Given the description of an element on the screen output the (x, y) to click on. 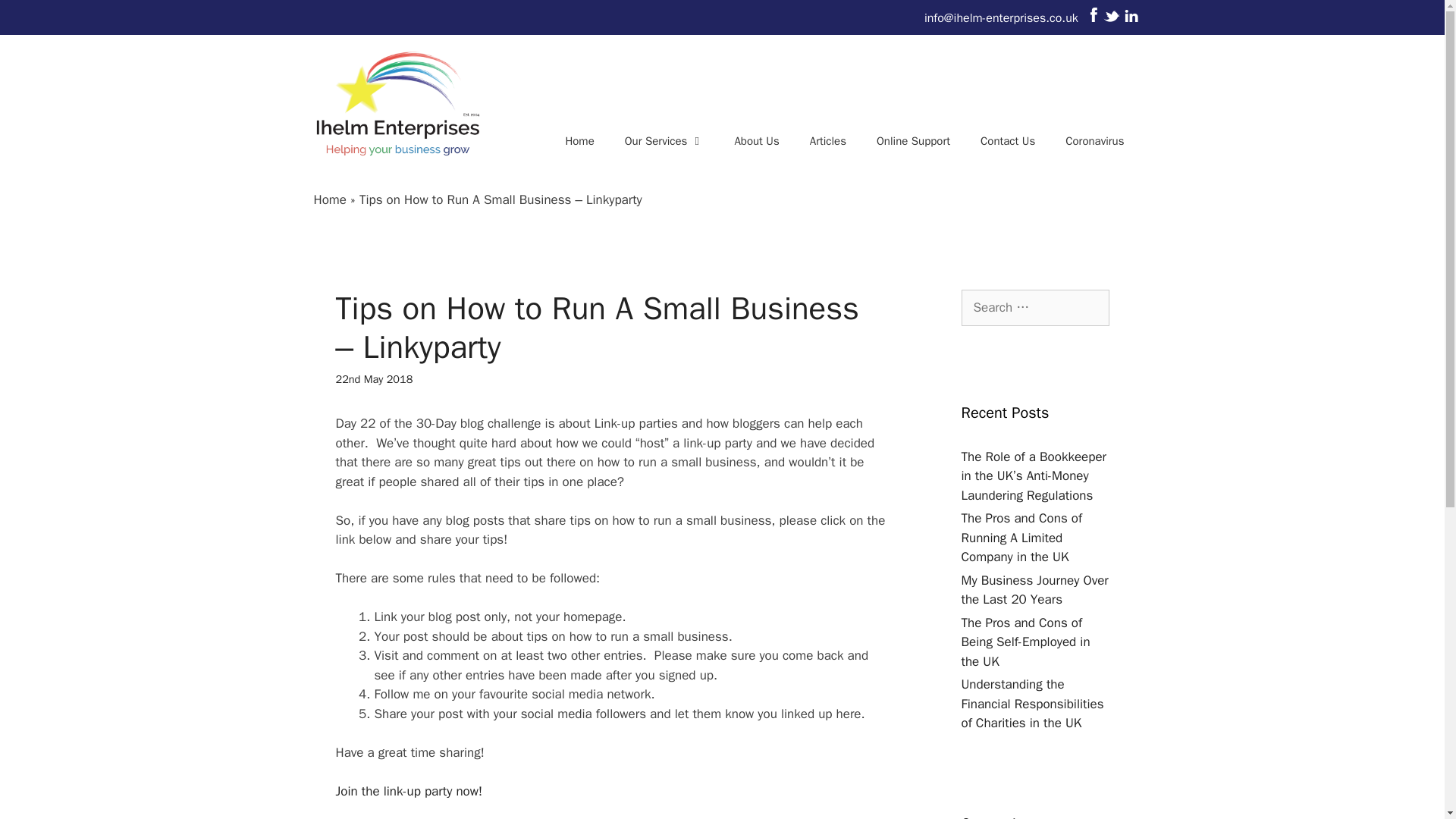
Coronavirus (1093, 140)
About Us (756, 140)
Search for: (1034, 307)
The Pros and Cons of Running A Limited Company in the UK (1021, 537)
The Pros and Cons of Being Self-Employed in the UK (1025, 642)
Home (579, 140)
Home (330, 199)
Contact Us (1007, 140)
Ihelm Enterprises Link-up Party (407, 790)
Join the link-up party now! (407, 790)
